Given the description of an element on the screen output the (x, y) to click on. 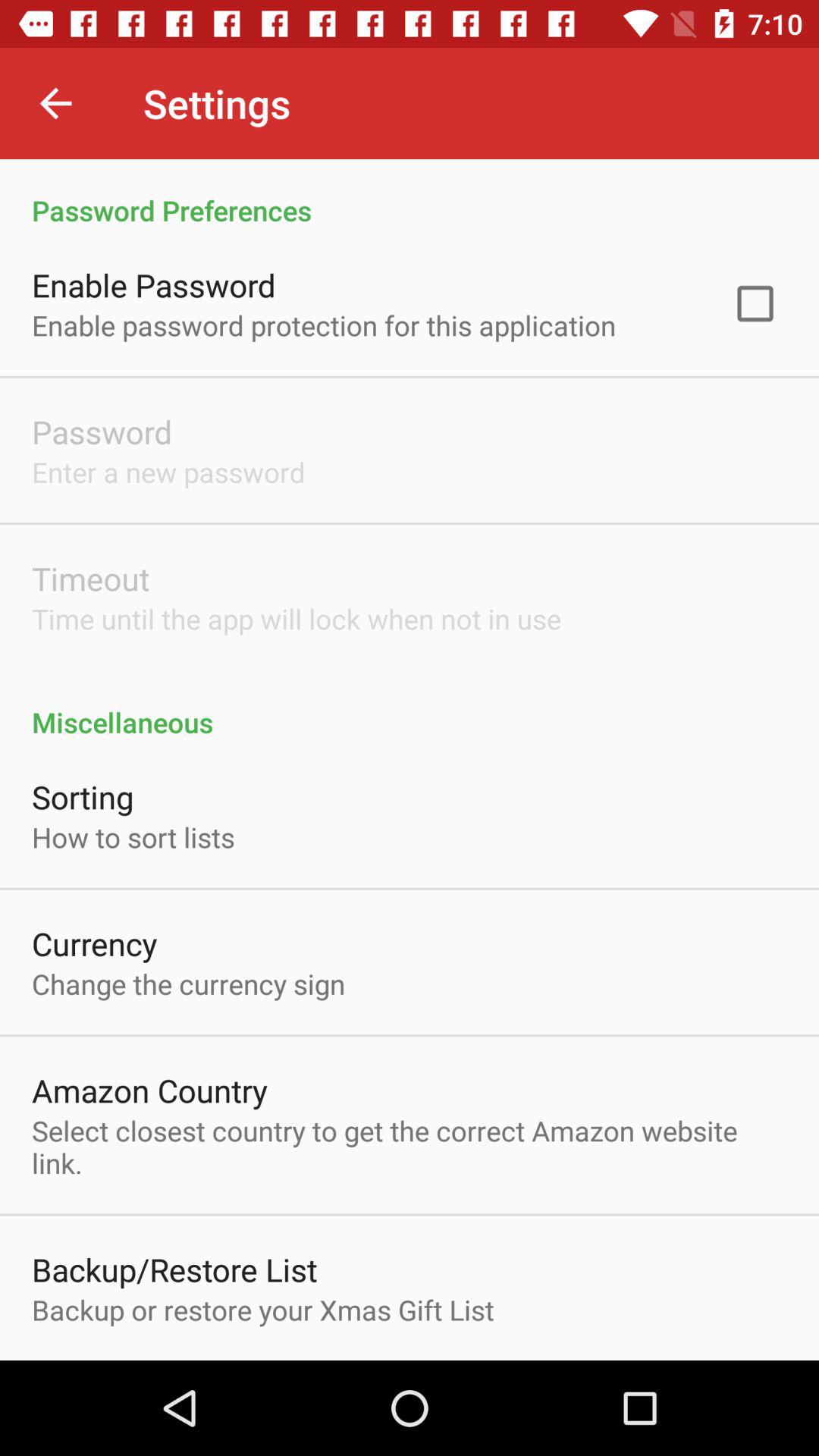
flip to the timeout icon (90, 578)
